Given the description of an element on the screen output the (x, y) to click on. 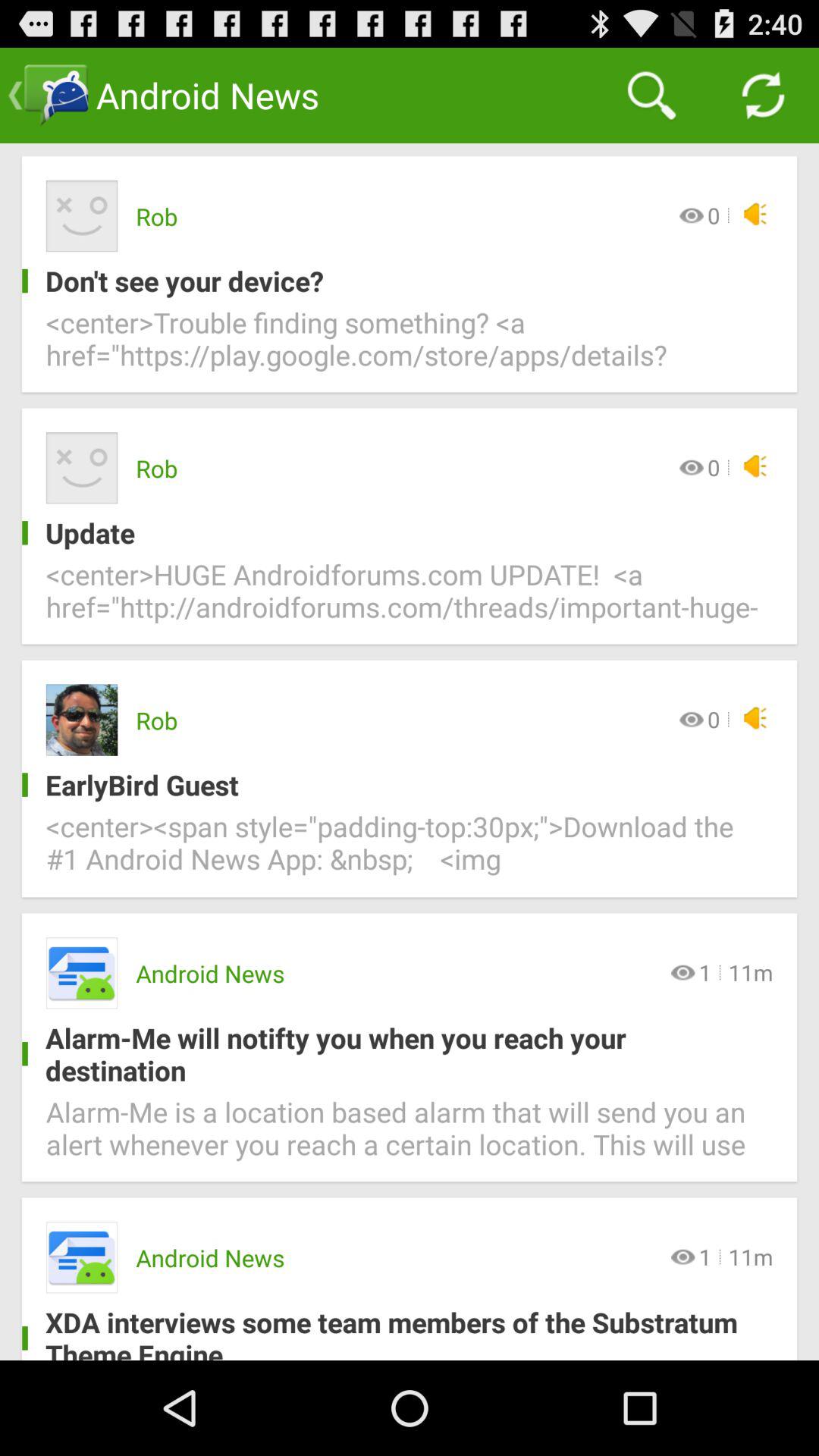
choose the item next to android news (651, 95)
